Given the description of an element on the screen output the (x, y) to click on. 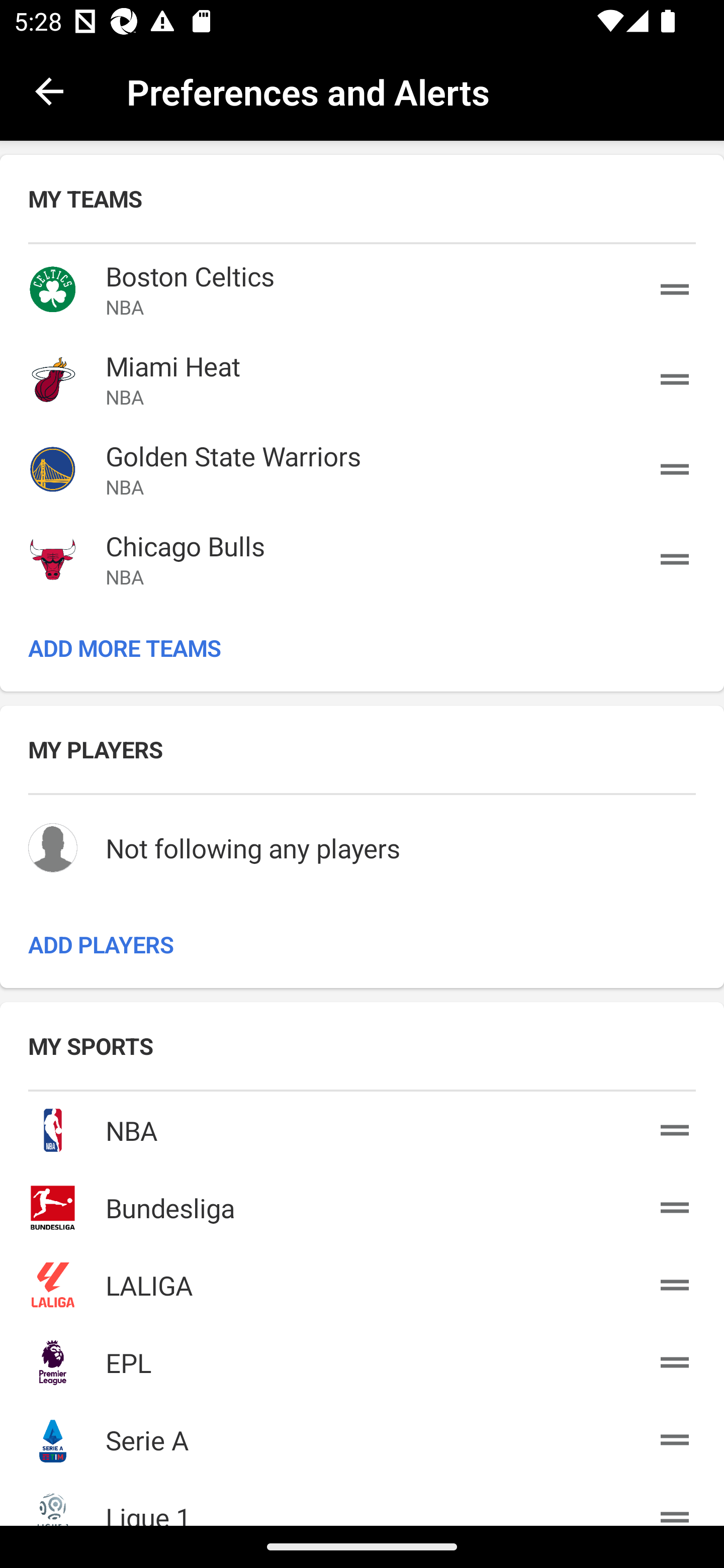
back.button (49, 90)
Miami Heat Miami Heat Miami Heat NBA NBA (362, 378)
Chicago Bulls Chicago Bulls Chicago Bulls NBA NBA (362, 558)
ADD MORE TEAMS (362, 647)
ADD PLAYERS (362, 943)
NBA NBA NBA (362, 1126)
Bundesliga Bundesliga Bundesliga (362, 1204)
LALIGA LALIGA LALIGA (362, 1281)
EPL EPL EPL (362, 1358)
Serie A Serie A Serie A (362, 1436)
